Given the description of an element on the screen output the (x, y) to click on. 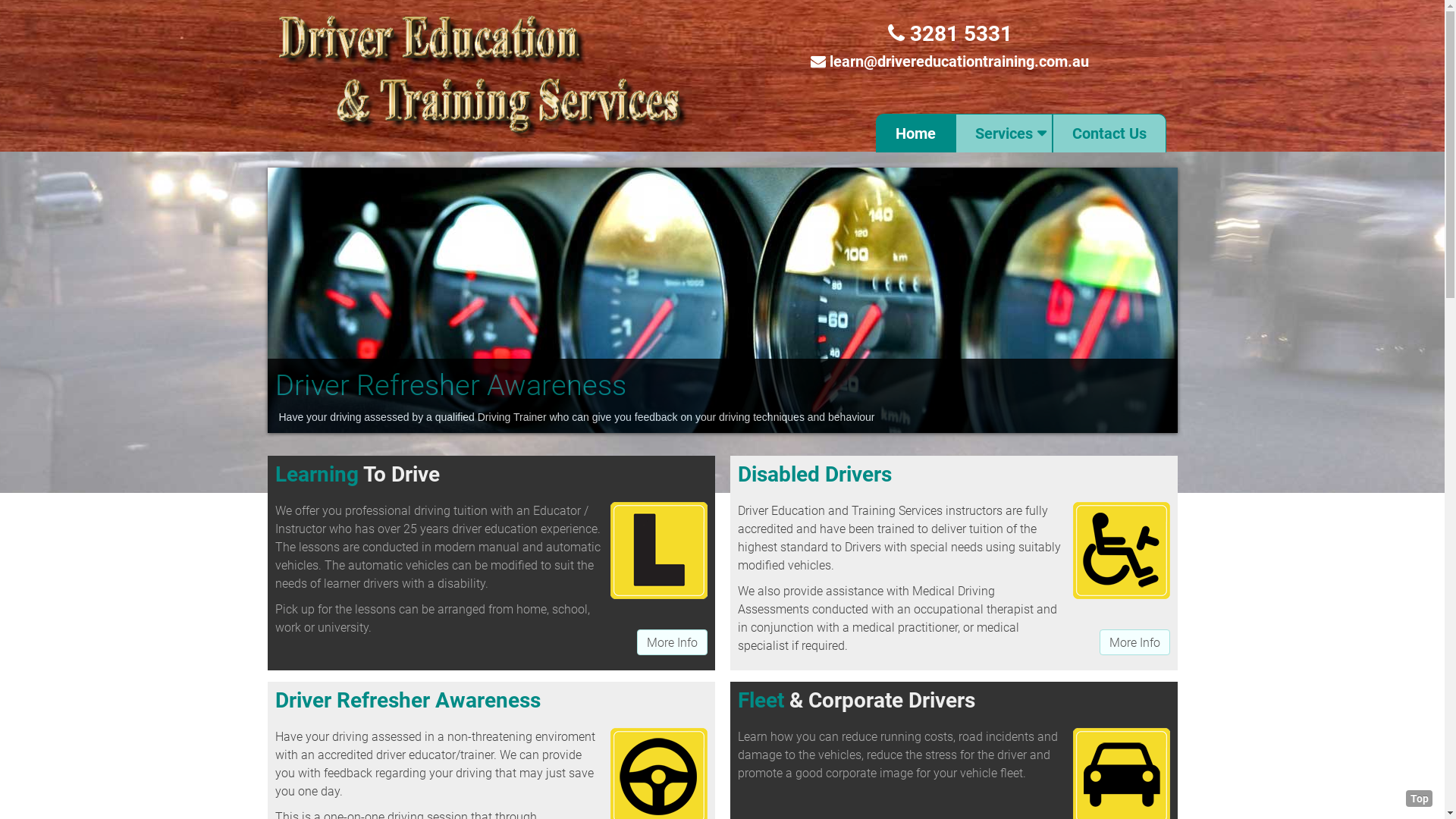
Top Element type: text (1418, 798)
learn@drivereducationtraining.com.au Element type: text (958, 61)
Contact Us Element type: text (1109, 132)
More Info Element type: text (1134, 642)
 3281 5331 Element type: text (949, 33)
Home Element type: text (914, 132)
More Info Element type: text (672, 642)
Services Element type: text (1003, 132)
